Given the description of an element on the screen output the (x, y) to click on. 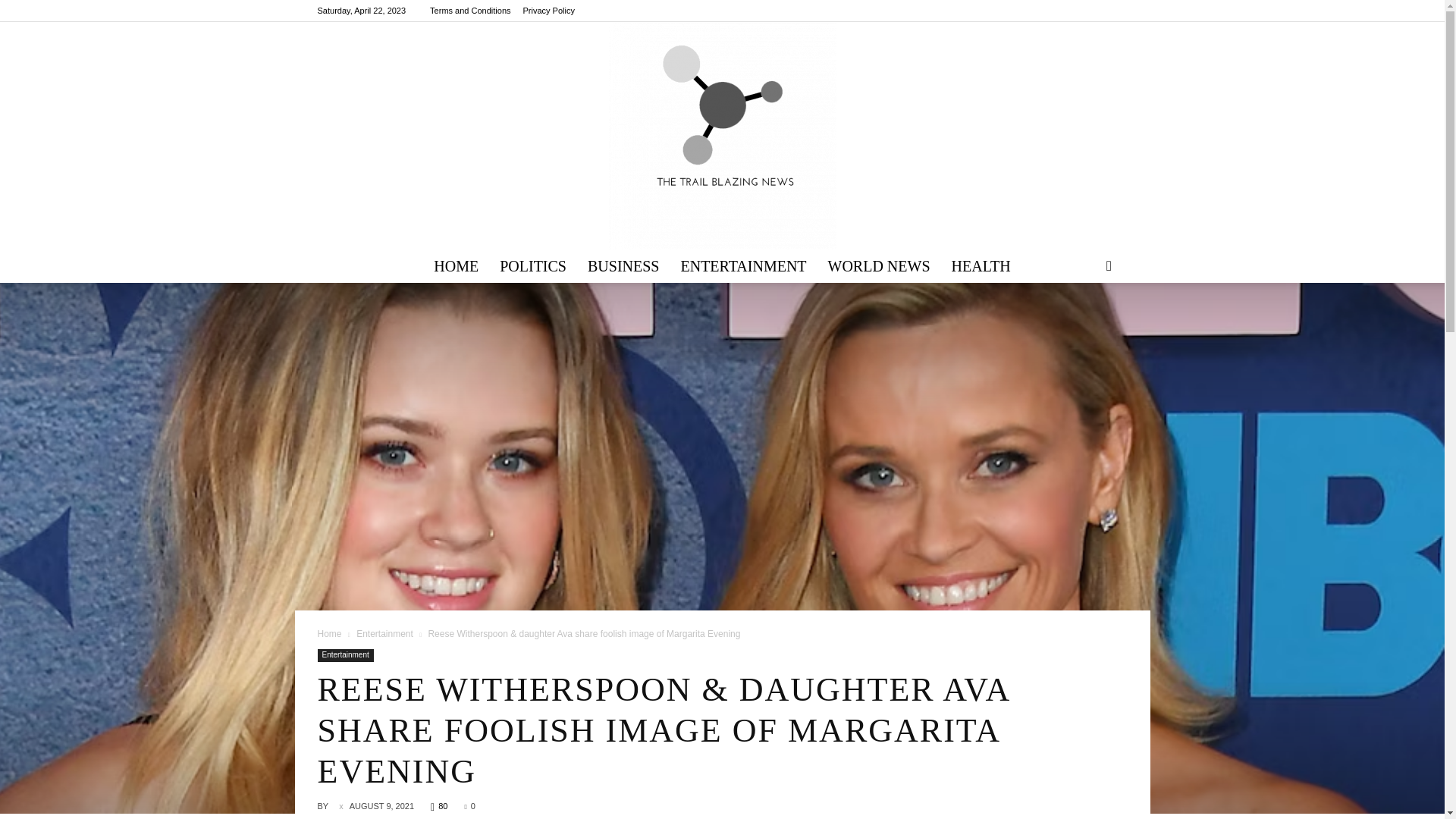
Terms and Conditions (470, 10)
WORLD NEWS (878, 265)
HEALTH (981, 265)
ENTERTAINMENT (742, 265)
Entertainment (344, 655)
Entertainment (384, 633)
BUSINESS (622, 265)
0 (469, 805)
Privacy Policy (548, 10)
Home (328, 633)
POLITICS (532, 265)
HOME (456, 265)
View all posts in Entertainment (384, 633)
Search (1085, 324)
